Given the description of an element on the screen output the (x, y) to click on. 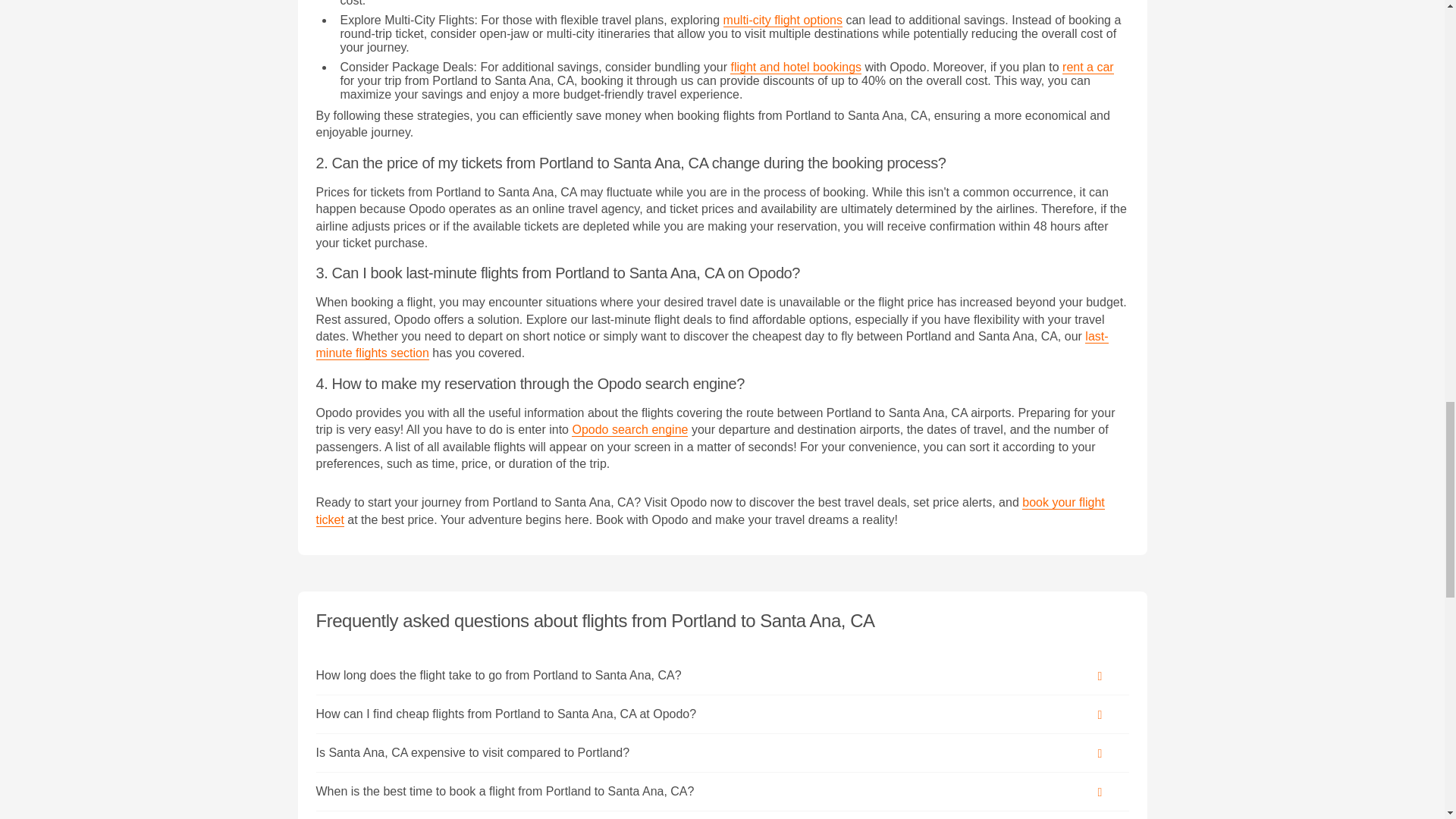
rent a car (1087, 67)
book your flight ticket (709, 511)
flight and hotel bookings (795, 67)
last-minute flights section (711, 345)
multi-city flight options (783, 20)
Opodo search engine (629, 429)
